Given the description of an element on the screen output the (x, y) to click on. 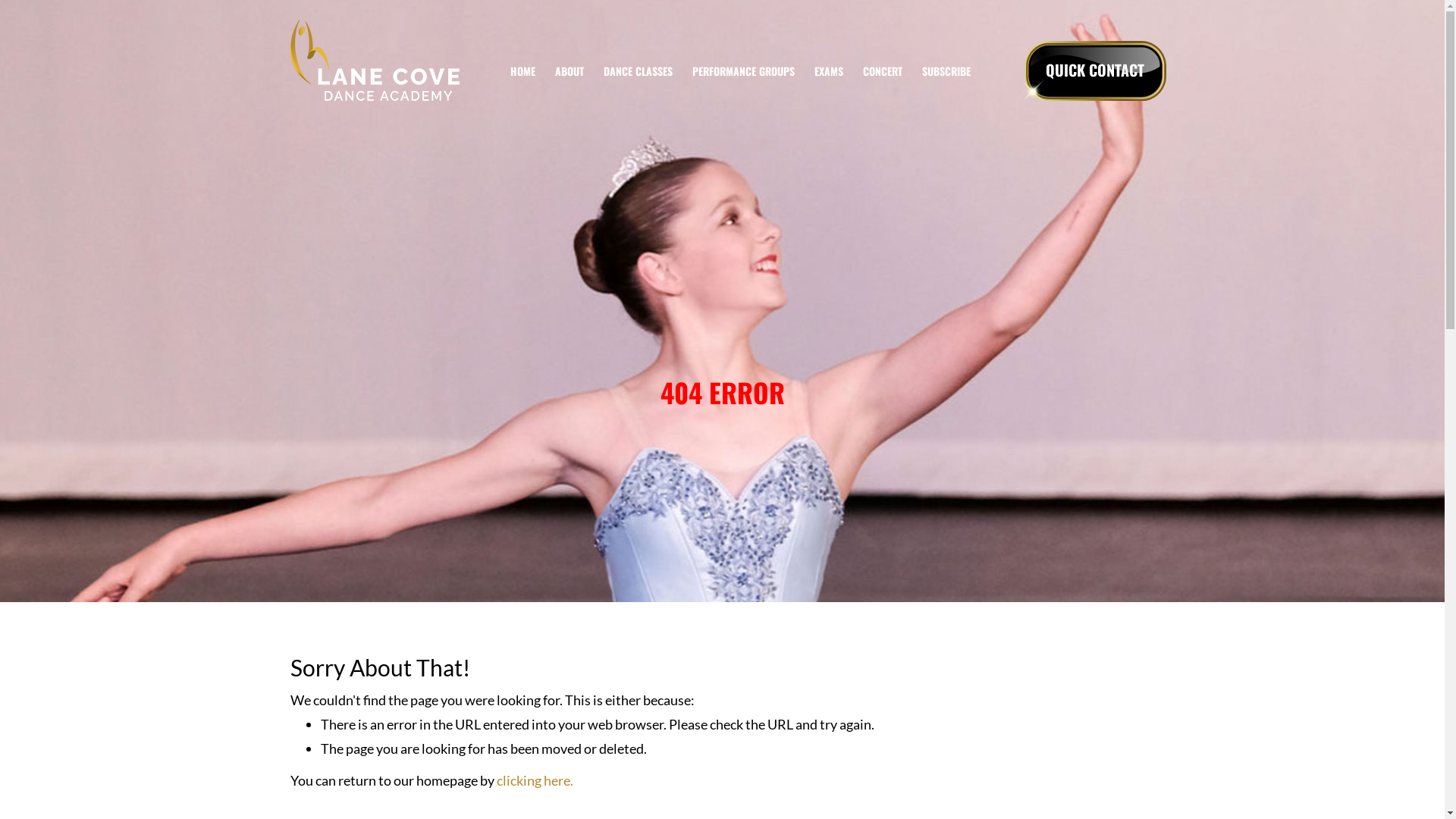
CONCERT Element type: text (882, 70)
DANCE CLASSES Element type: text (637, 70)
PERFORMANCE GROUPS Element type: text (743, 70)
SUBSCRIBE Element type: text (946, 70)
QUICK CONTACT Element type: text (1094, 70)
ABOUT Element type: text (569, 70)
clicking here. Element type: text (533, 779)
EXAMS Element type: text (828, 70)
HOME Element type: text (522, 70)
